Given the description of an element on the screen output the (x, y) to click on. 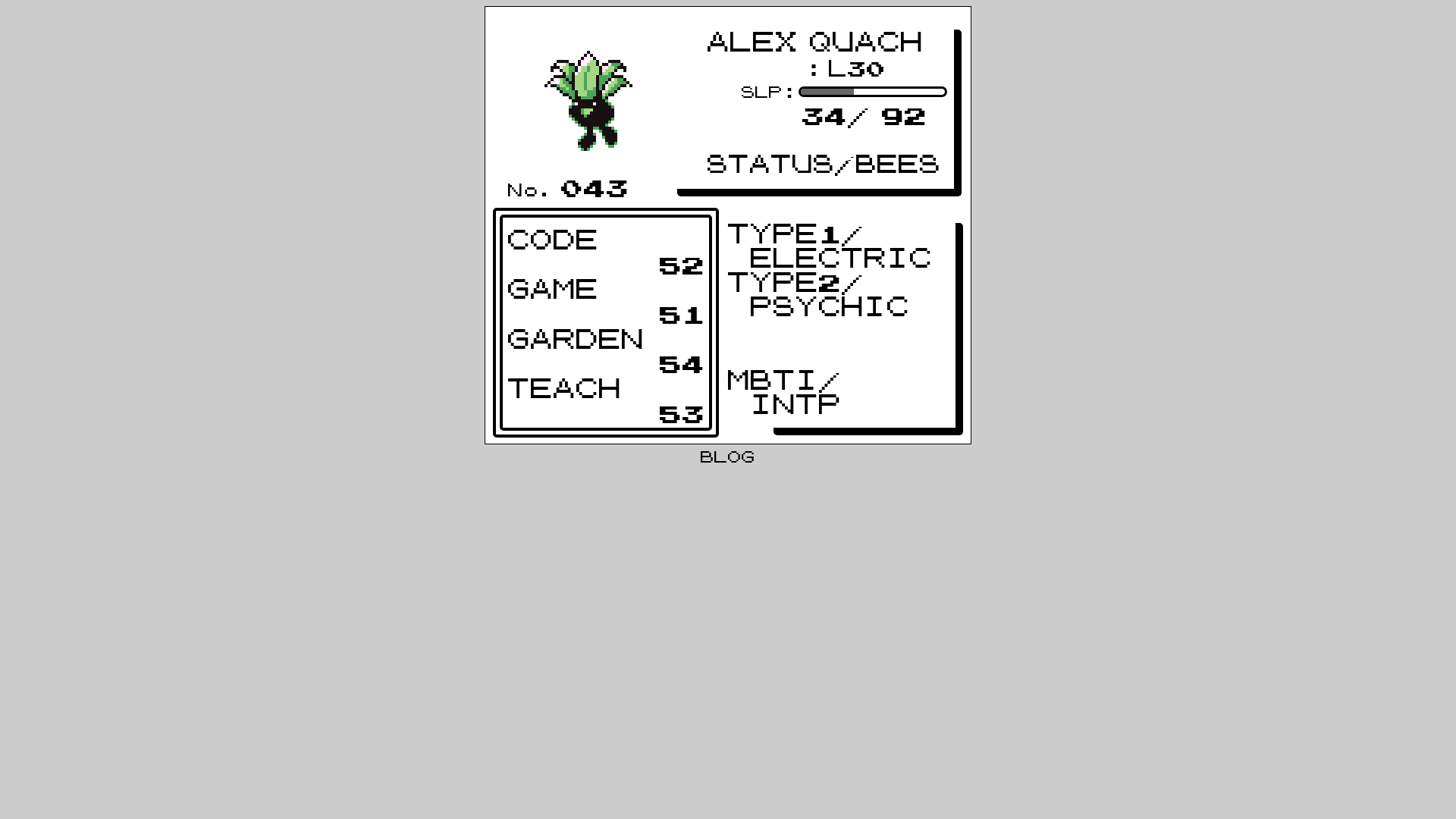
BLOG Element type: text (727, 457)
